Given the description of an element on the screen output the (x, y) to click on. 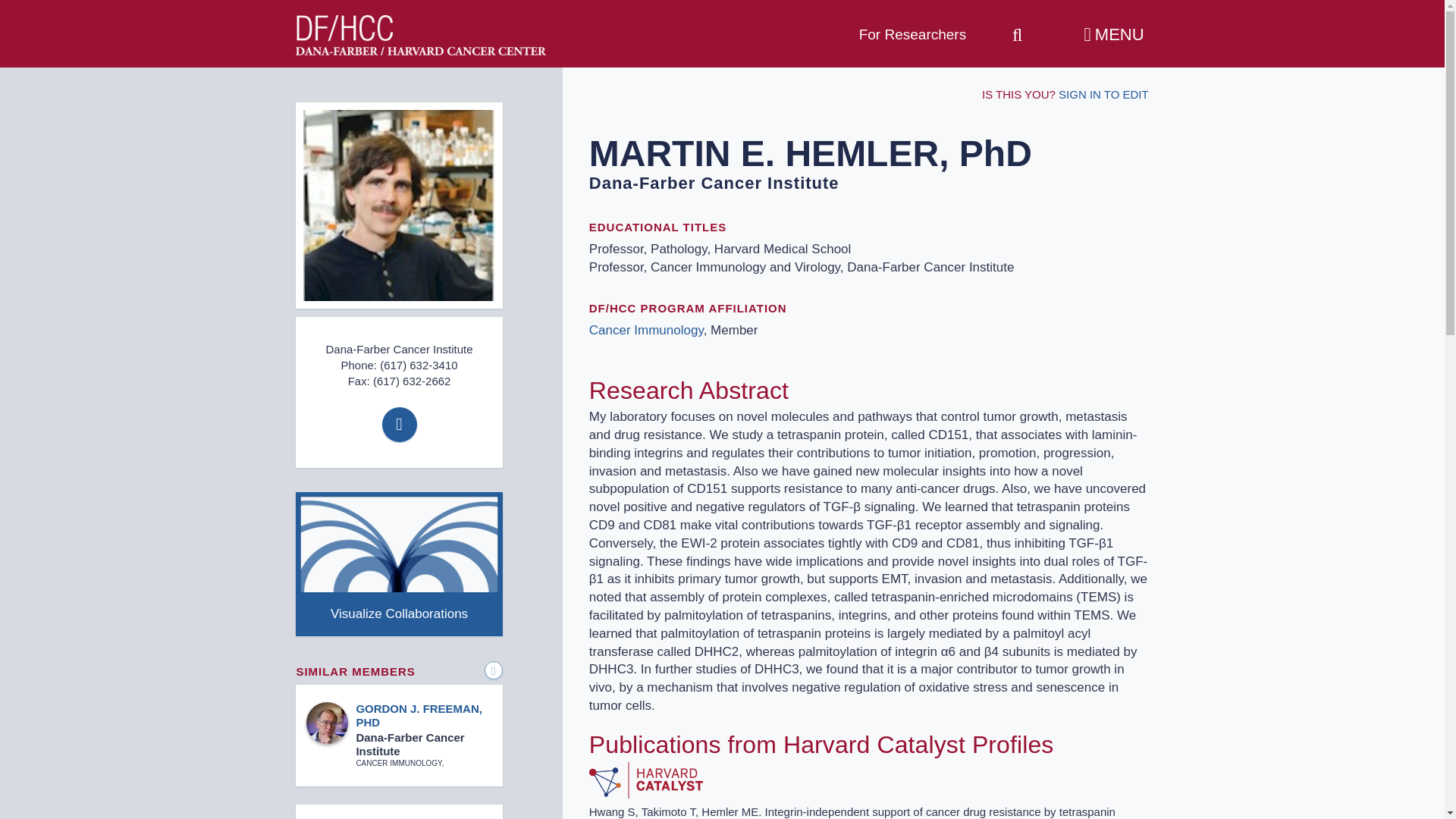
Search (1017, 28)
Search (1017, 28)
SIGN IN TO EDIT (1103, 93)
MENU (1114, 34)
For Researchers (912, 35)
Visualize Collaborations (398, 564)
members-only (371, 27)
Cancer Immunology (646, 329)
